Given the description of an element on the screen output the (x, y) to click on. 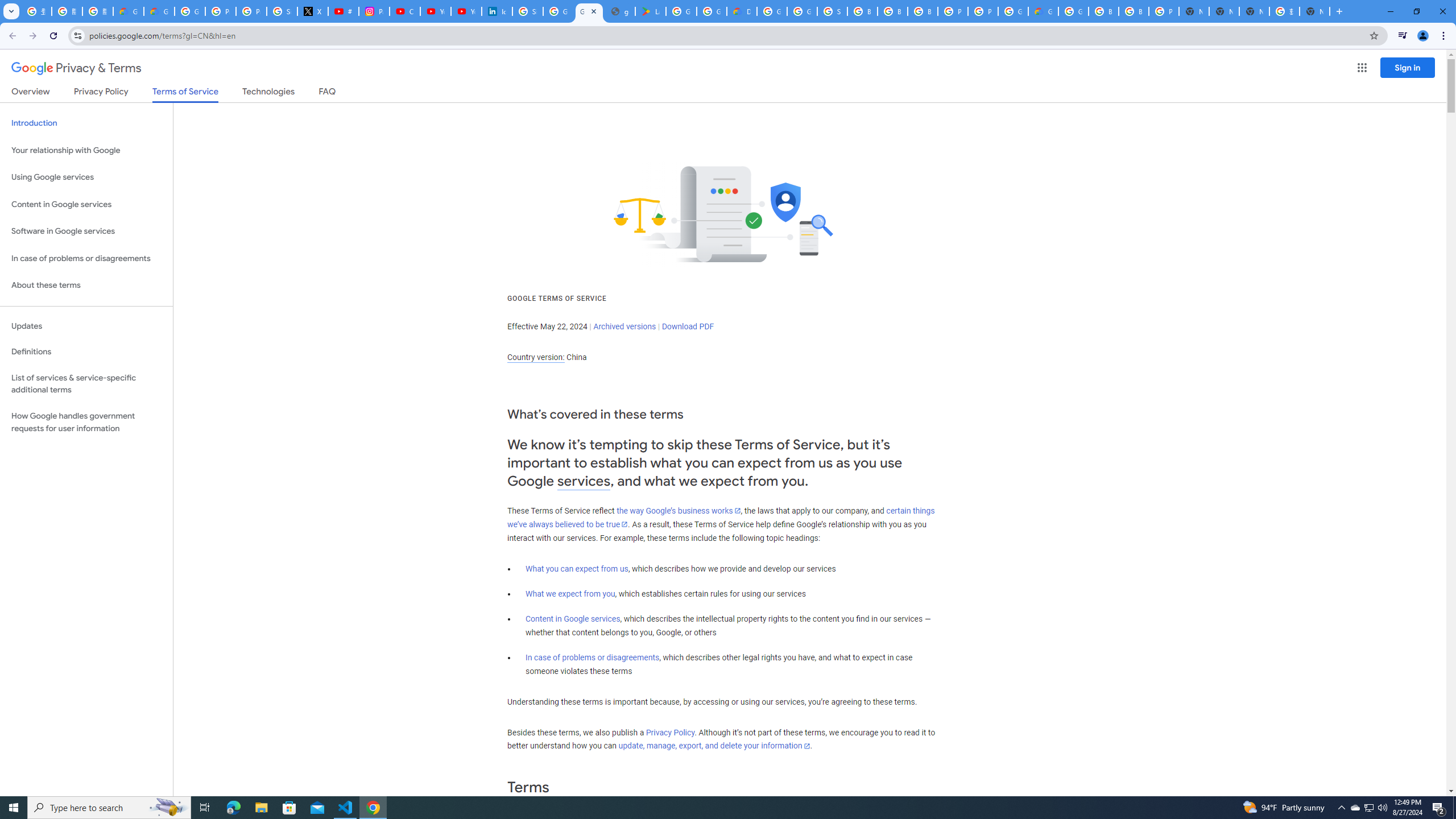
List of services & service-specific additional terms (86, 383)
Google Cloud Platform (1072, 11)
Archived versions (624, 326)
Privacy Policy (669, 732)
YouTube Culture & Trends - YouTube Top 10, 2021 (465, 11)
Control your music, videos, and more (1402, 35)
FAQ (327, 93)
Identity verification via Persona | LinkedIn Help (496, 11)
Google Cloud Privacy Notice (127, 11)
System (6, 6)
Google Workspace - Specific Terms (711, 11)
